Given the description of an element on the screen output the (x, y) to click on. 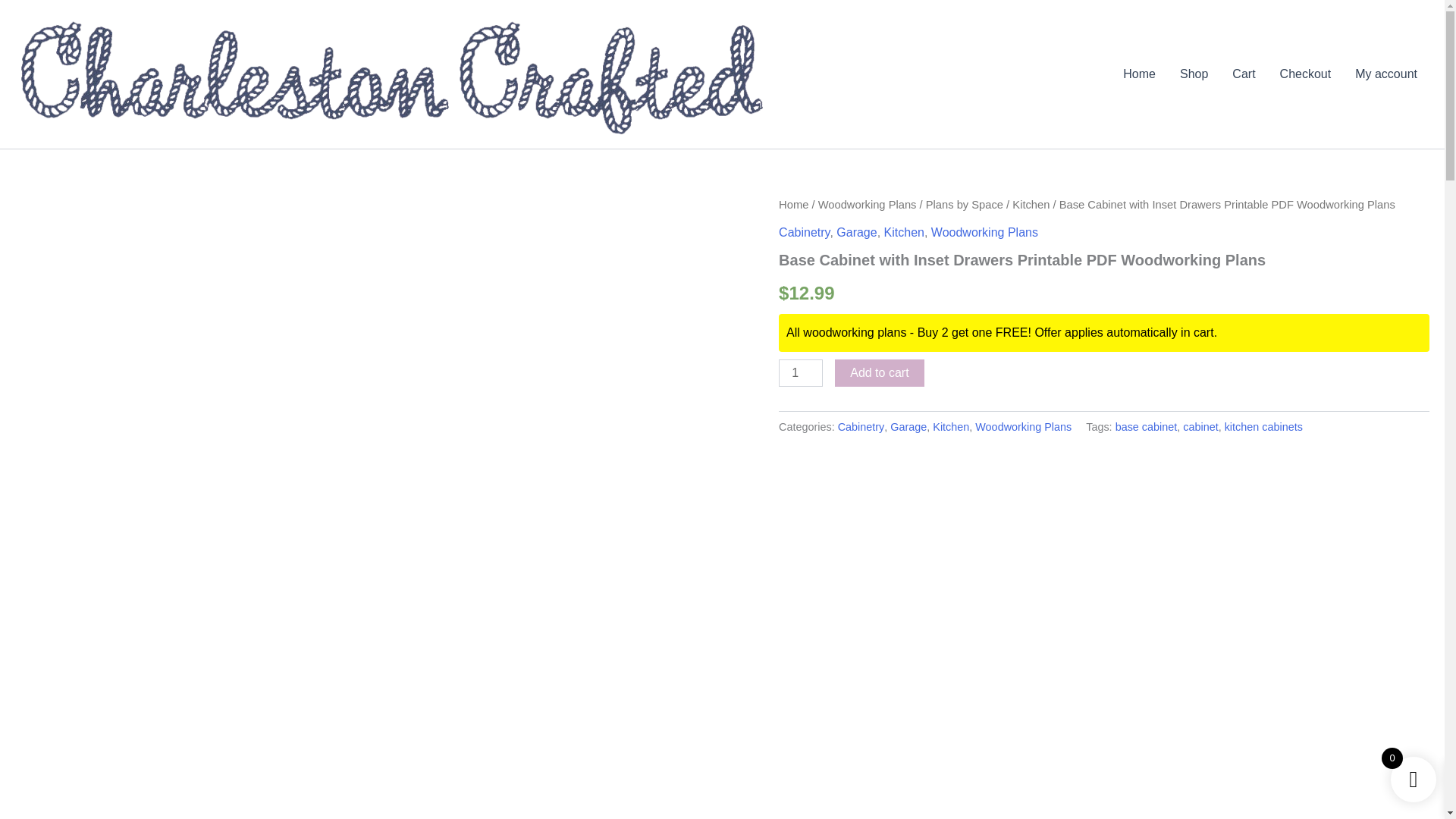
My account (1385, 74)
Home (793, 204)
Cabinetry (861, 426)
Kitchen (1030, 204)
Woodworking Plans (984, 232)
base cabinet (1146, 426)
Cabinetry (803, 232)
Woodworking Plans (867, 204)
Garage (907, 426)
Kitchen (903, 232)
